Given the description of an element on the screen output the (x, y) to click on. 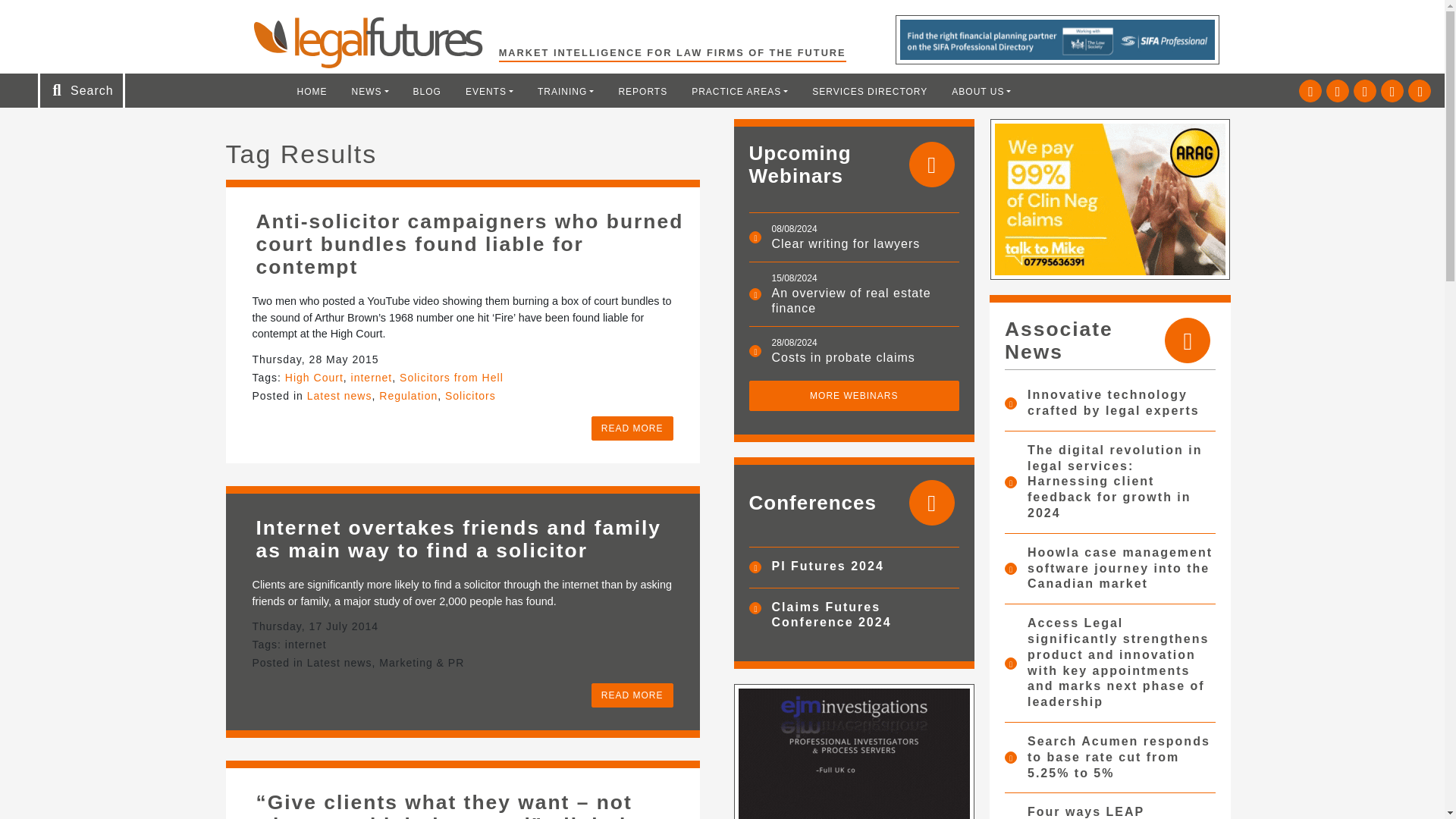
News (370, 91)
Legal Futures homepage (375, 42)
Search (51, 16)
See Legal Futures on Linkedin-in (1337, 90)
See Legal Futures on Facebook-f (1364, 90)
See Legal Futures on Rss (1419, 90)
BLOG (426, 91)
REPORTS (642, 91)
See Legal Futures on Twitter (1310, 90)
HOME (312, 91)
